Given the description of an element on the screen output the (x, y) to click on. 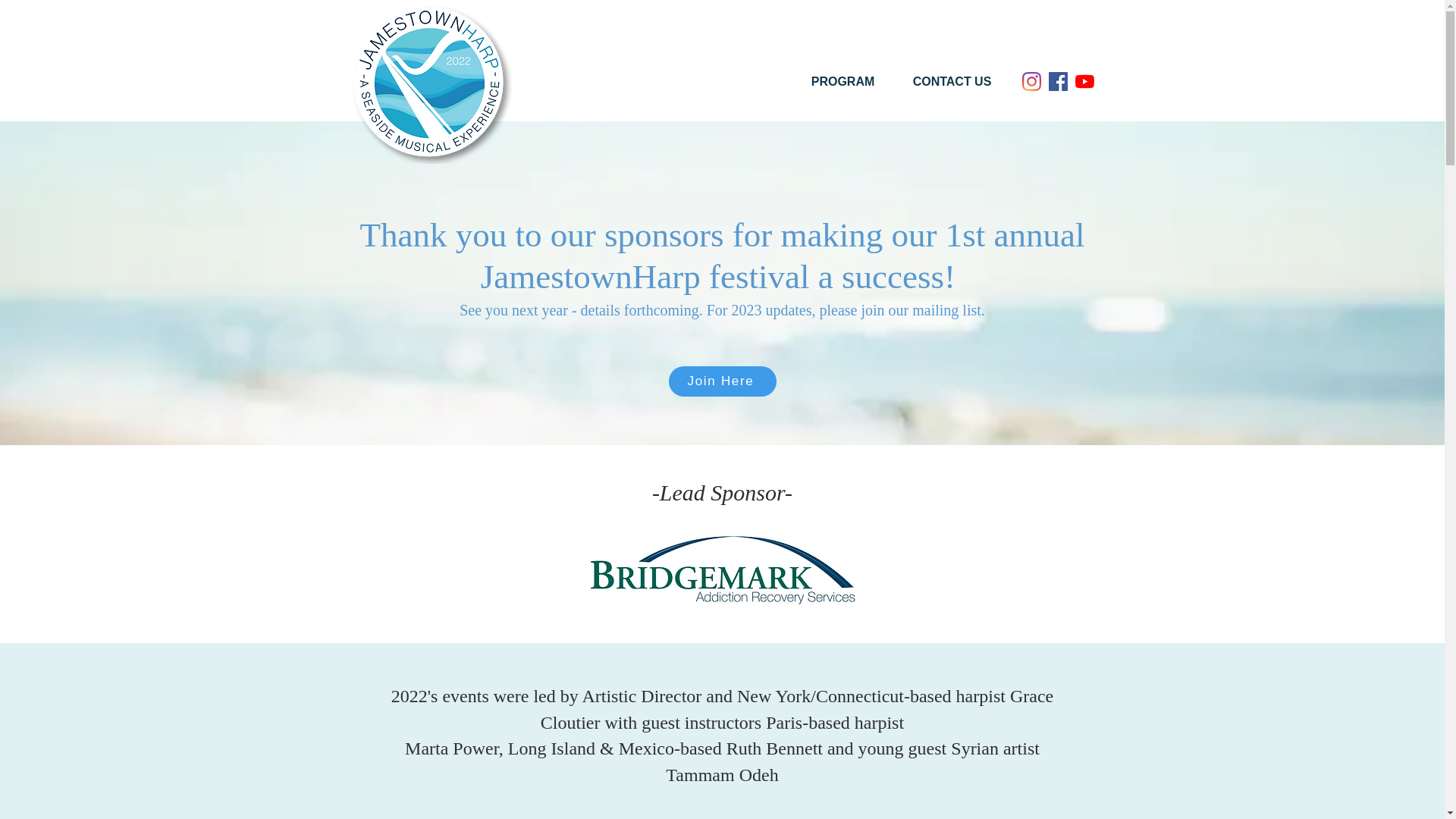
Join Here (722, 381)
PROGRAM (843, 81)
CONTACT US (952, 81)
